Given the description of an element on the screen output the (x, y) to click on. 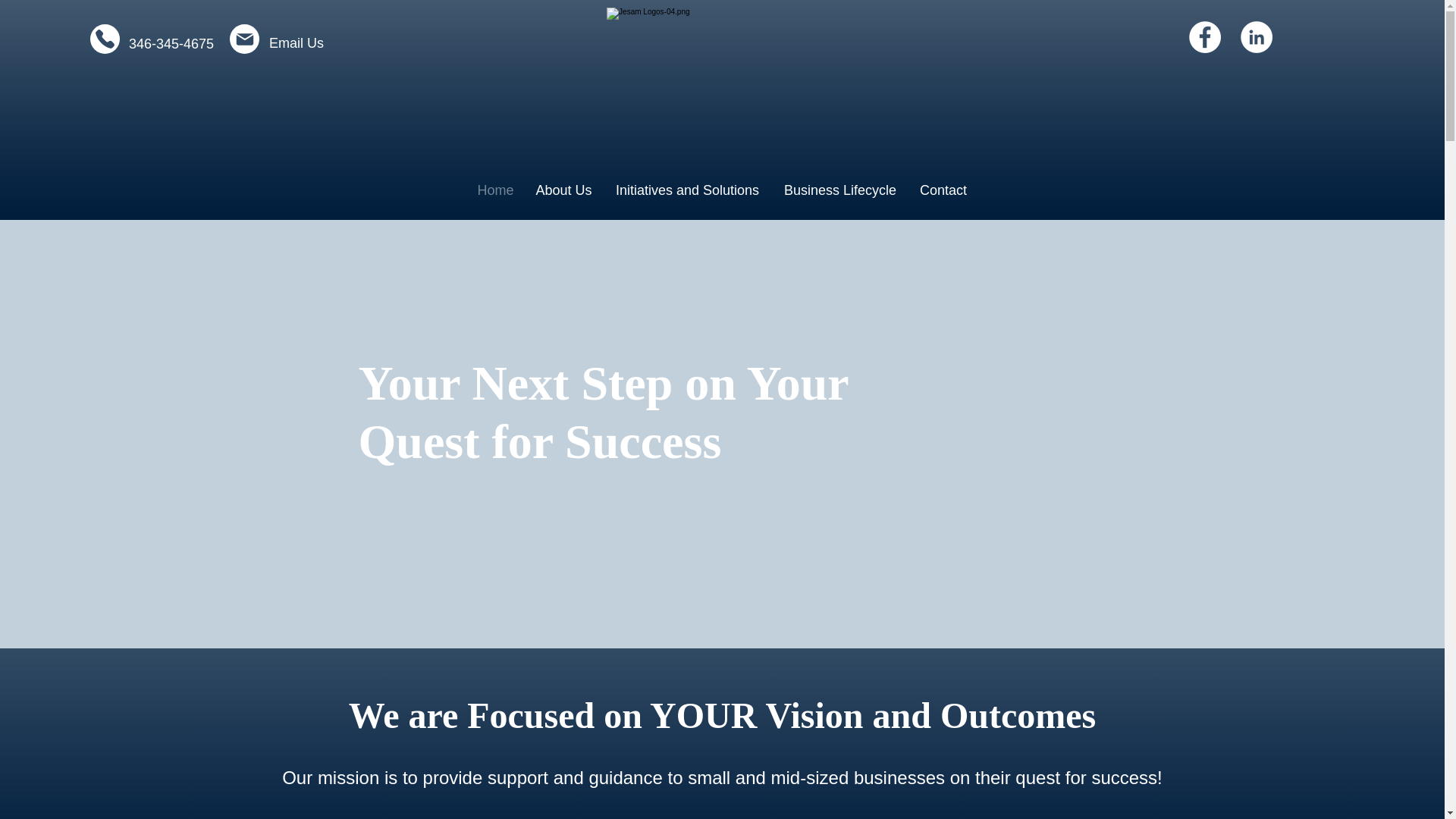
Email Us (296, 43)
Business Lifecycle (839, 189)
346-345-4675 (171, 43)
Initiatives and Solutions (686, 189)
About Us (563, 189)
Home (494, 189)
Contact (943, 189)
